Given the description of an element on the screen output the (x, y) to click on. 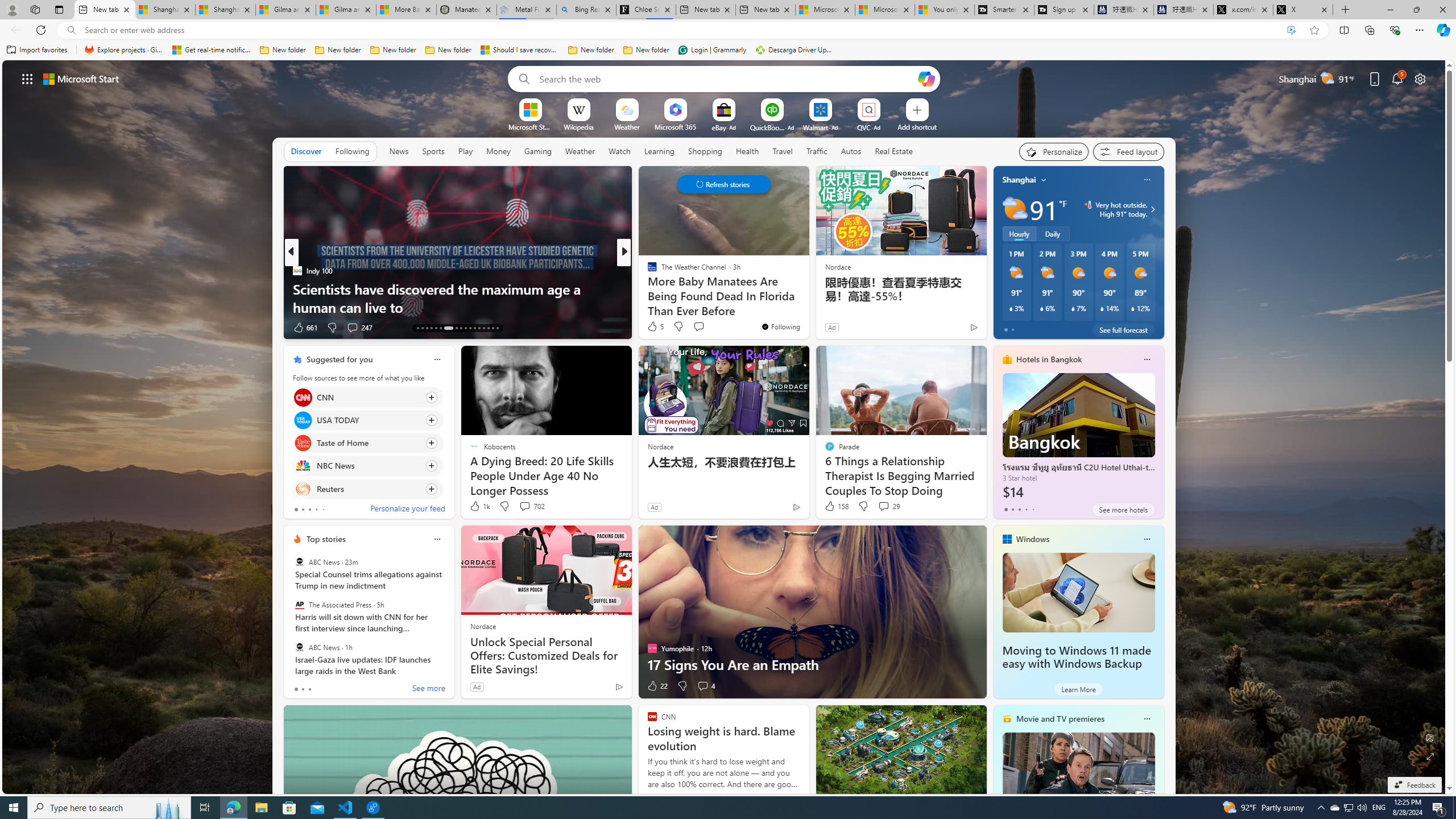
Gaming (537, 151)
Traffic (816, 151)
13 Things You Should Never Tolerate in Your Life (807, 307)
Enter your search term (726, 78)
AutomationID: tab-42 (497, 328)
View comments 5 Comment (705, 327)
Descarga Driver Updater (794, 49)
Personalize your feed (407, 509)
17 Like (652, 327)
